Given the description of an element on the screen output the (x, y) to click on. 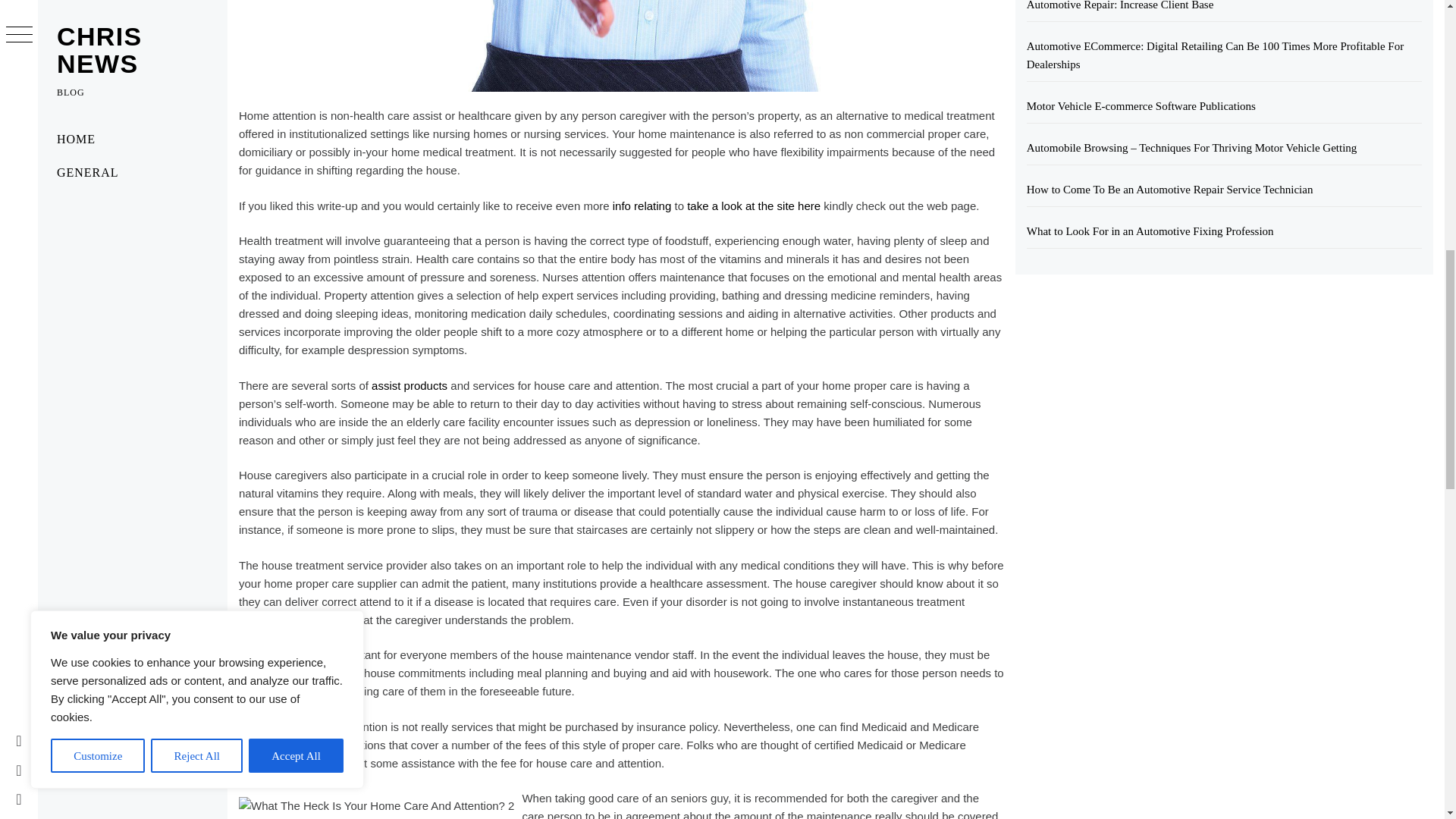
take a look at the site here (754, 205)
assist products (408, 385)
info relating (641, 205)
